Given the description of an element on the screen output the (x, y) to click on. 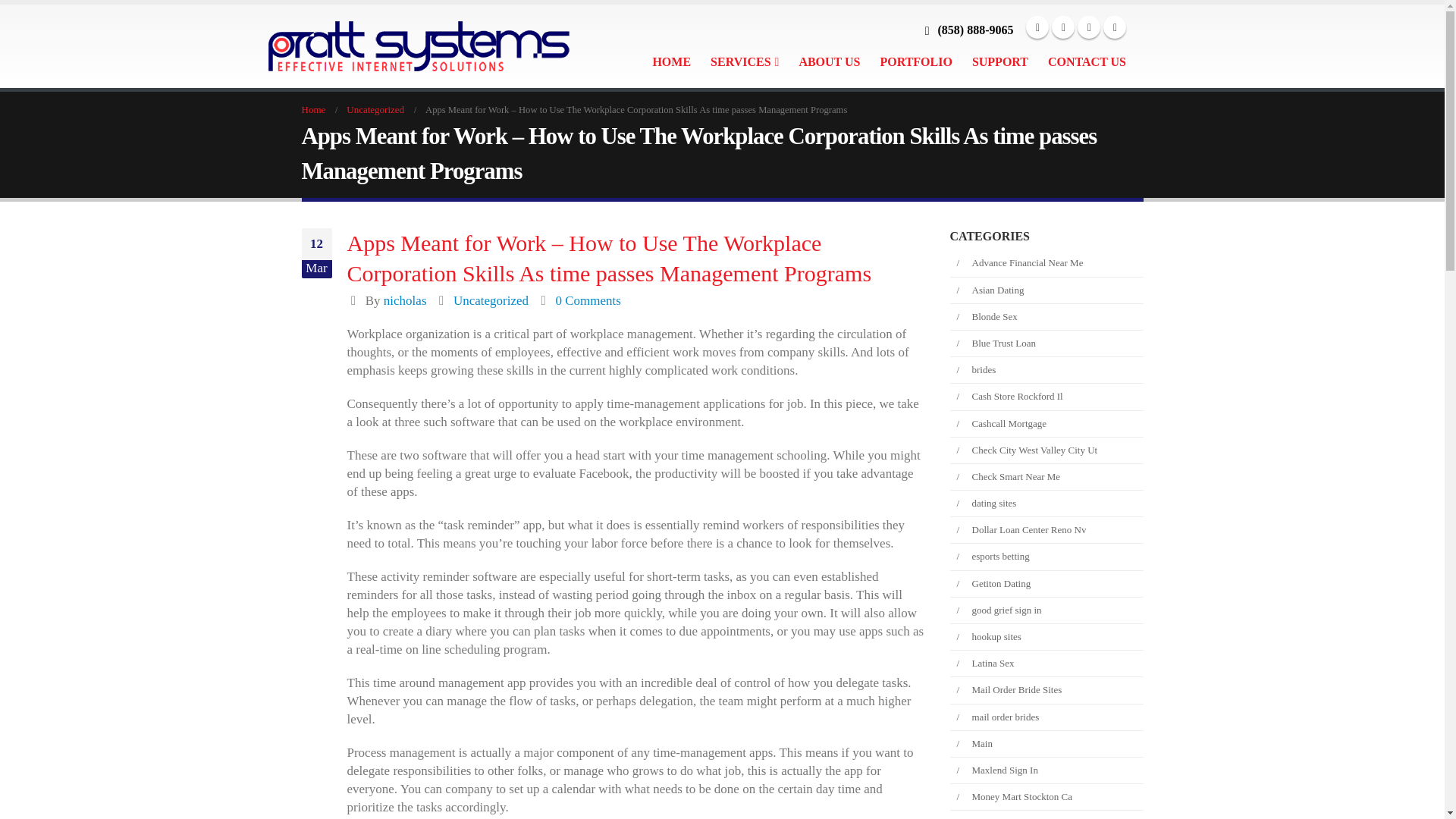
LinkedIn (1062, 26)
SUPPORT (999, 61)
ABOUT US (829, 61)
Twitter (1088, 26)
0 Comments (587, 300)
Skype (1114, 26)
HOME (671, 61)
Go to Home Page (313, 109)
Facebook (1037, 26)
CONTACT US (1087, 61)
Posts by nicholas (405, 300)
SERVICES (744, 61)
Pratt Systems - Effective Internet Solutions (396, 46)
PORTFOLIO (915, 61)
